Given the description of an element on the screen output the (x, y) to click on. 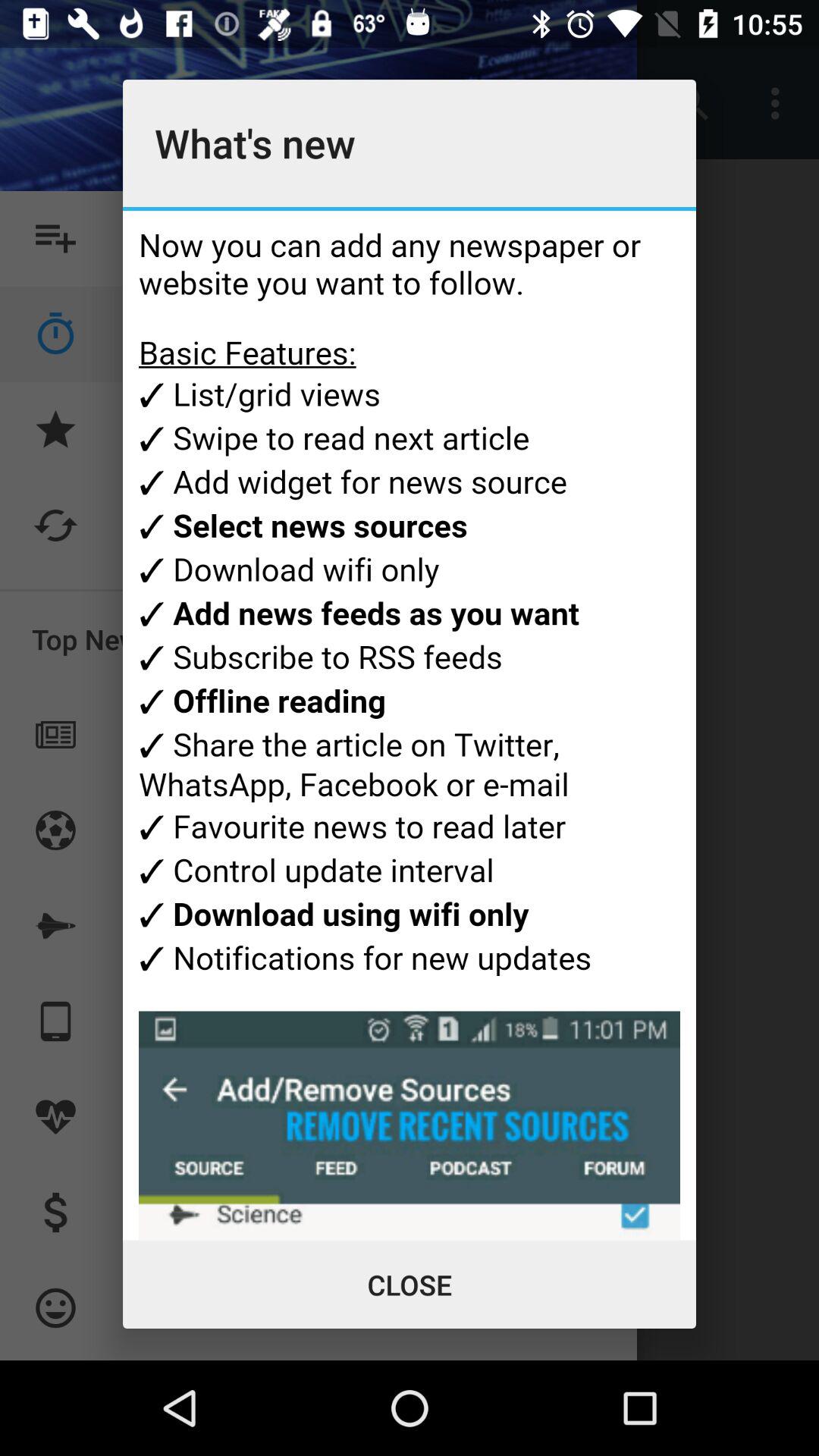
option select button (409, 725)
